Given the description of an element on the screen output the (x, y) to click on. 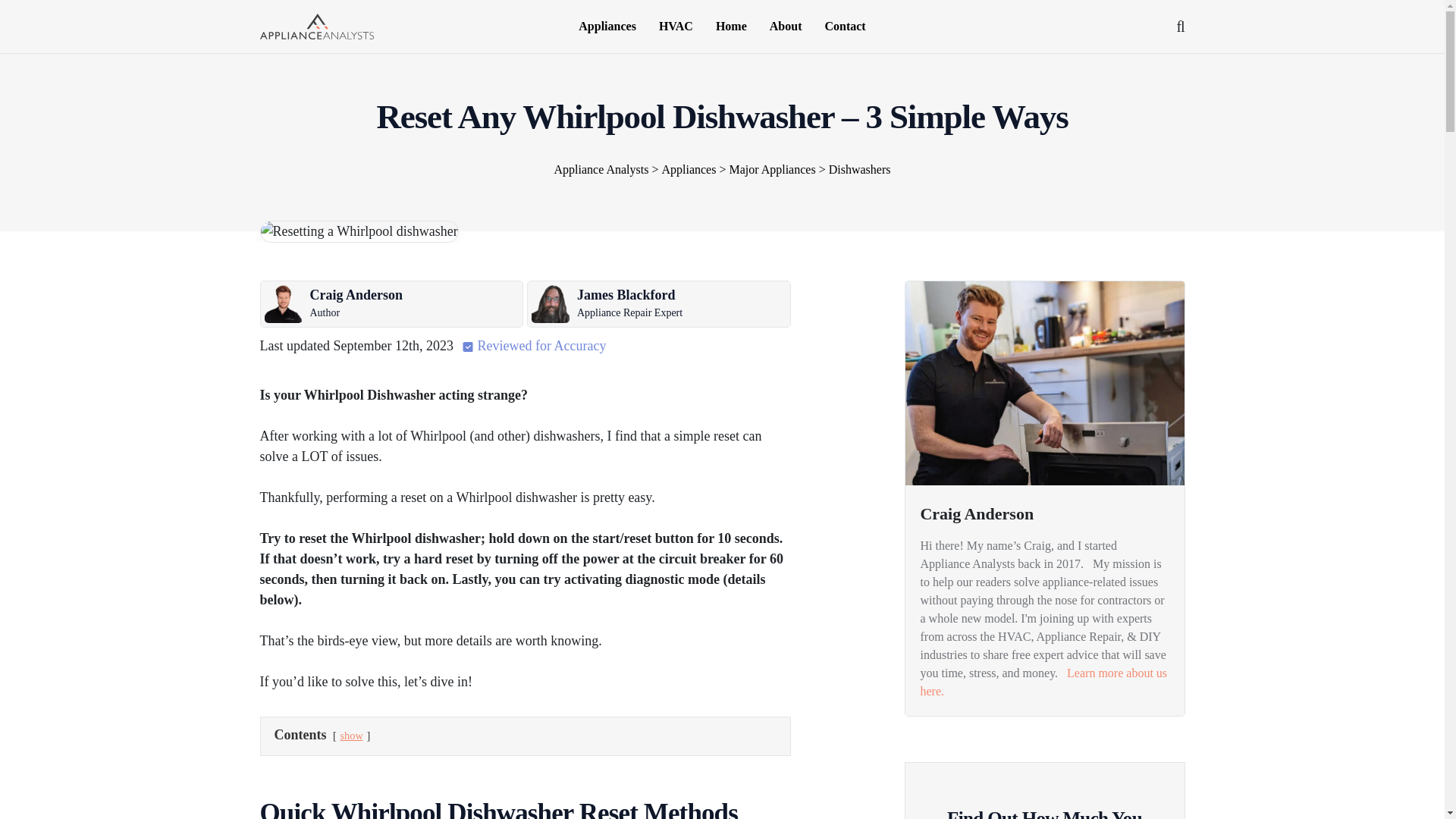
Appliances (607, 26)
HVAC (675, 26)
Appliance Analysts (315, 24)
